Given the description of an element on the screen output the (x, y) to click on. 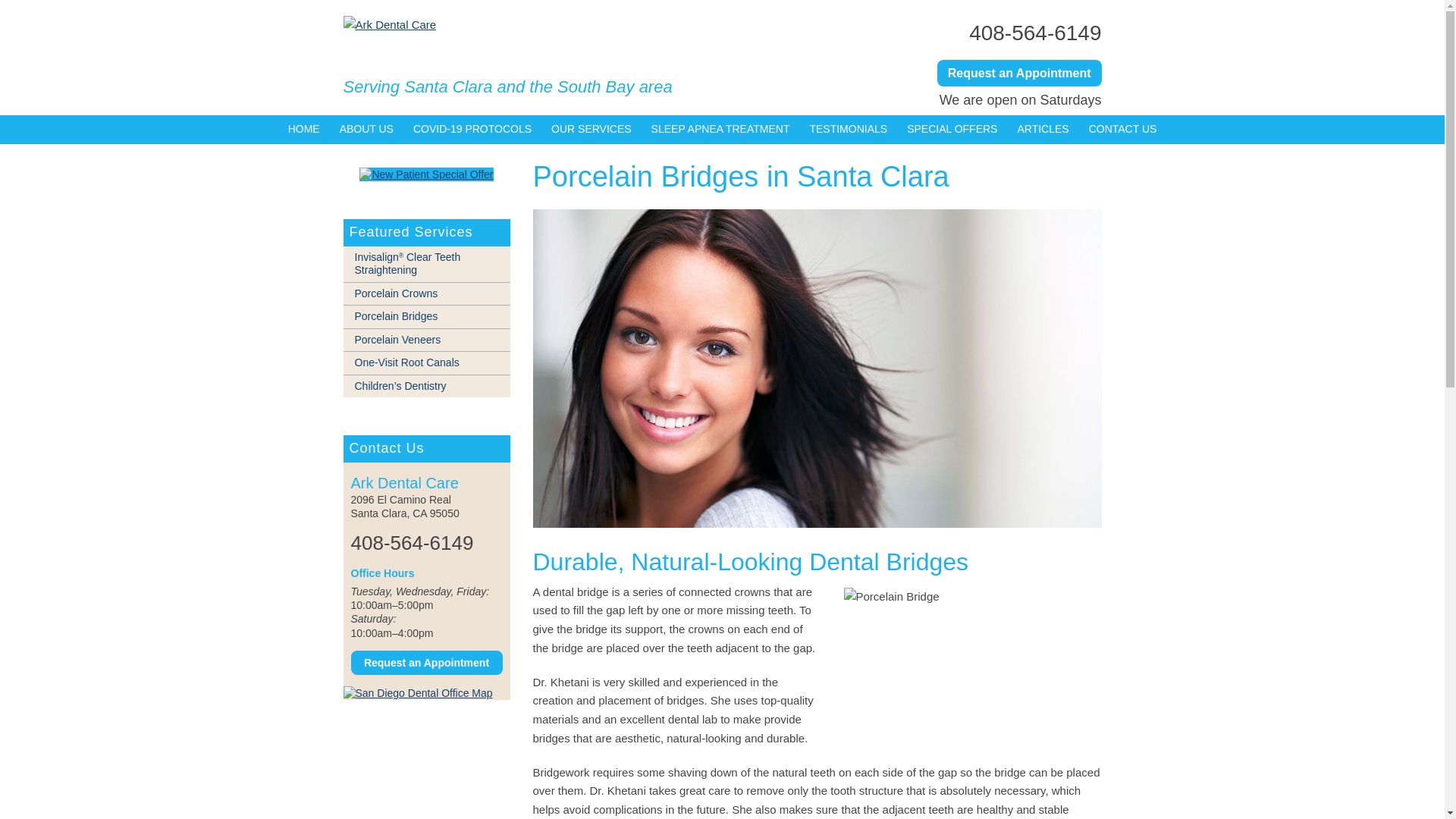
TESTIMONIALS (847, 129)
SPECIAL OFFERS (951, 129)
COVID-19 PROTOCOLS (472, 129)
Request an Appointment (1019, 72)
OUR SERVICES (591, 129)
ARTICLES (1042, 129)
ABOUT US (366, 129)
CONTACT US (1122, 129)
SLEEP APNEA TREATMENT (720, 129)
HOME (304, 129)
